Given the description of an element on the screen output the (x, y) to click on. 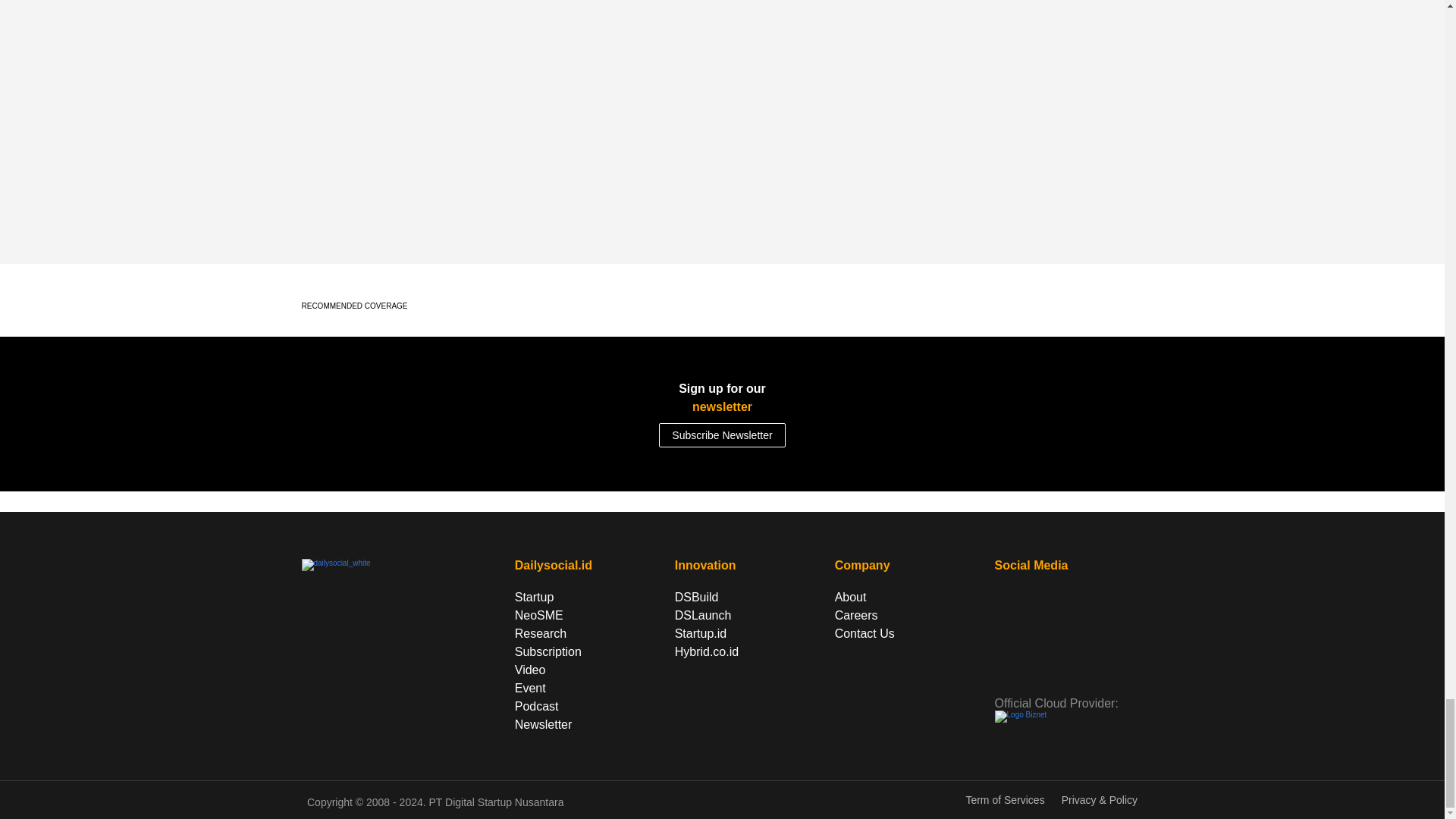
DS Build (695, 597)
